Given the description of an element on the screen output the (x, y) to click on. 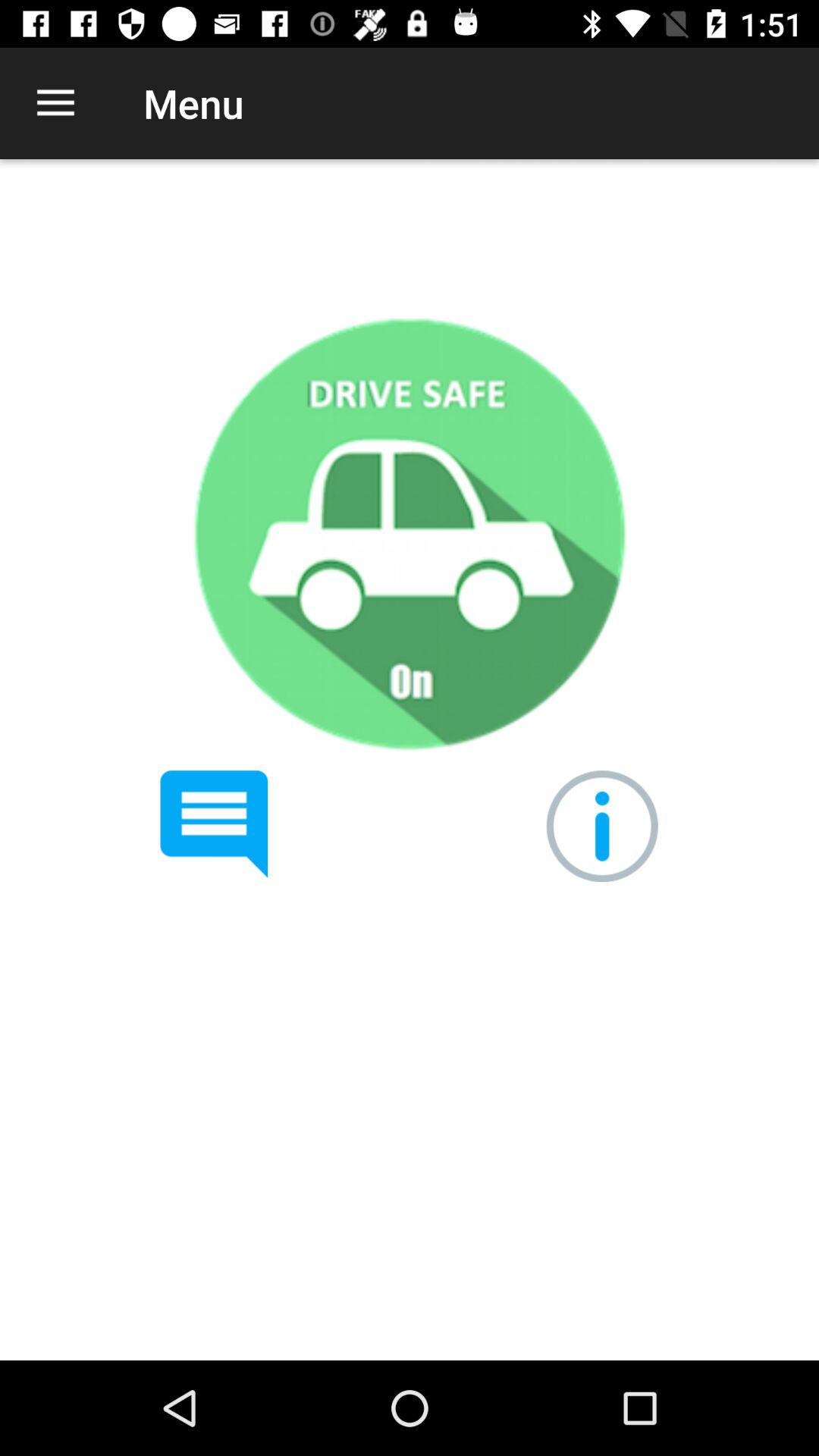
tap the icon next to the menu item (55, 103)
